Given the description of an element on the screen output the (x, y) to click on. 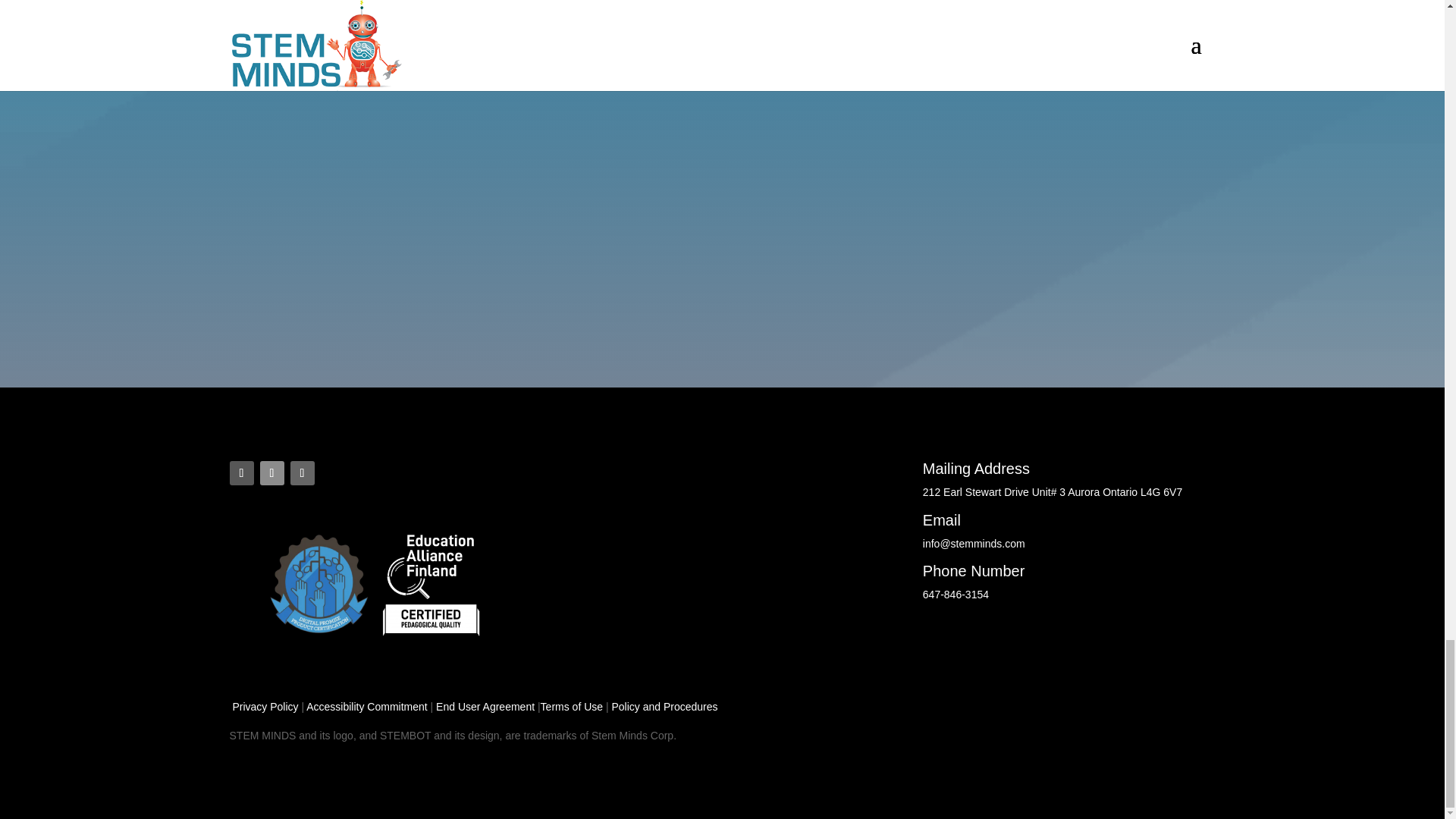
Follow on LinkedIn (301, 473)
Follow on Facebook (240, 473)
Certifications-2022 (375, 584)
Follow on Twitter (271, 473)
